Given the description of an element on the screen output the (x, y) to click on. 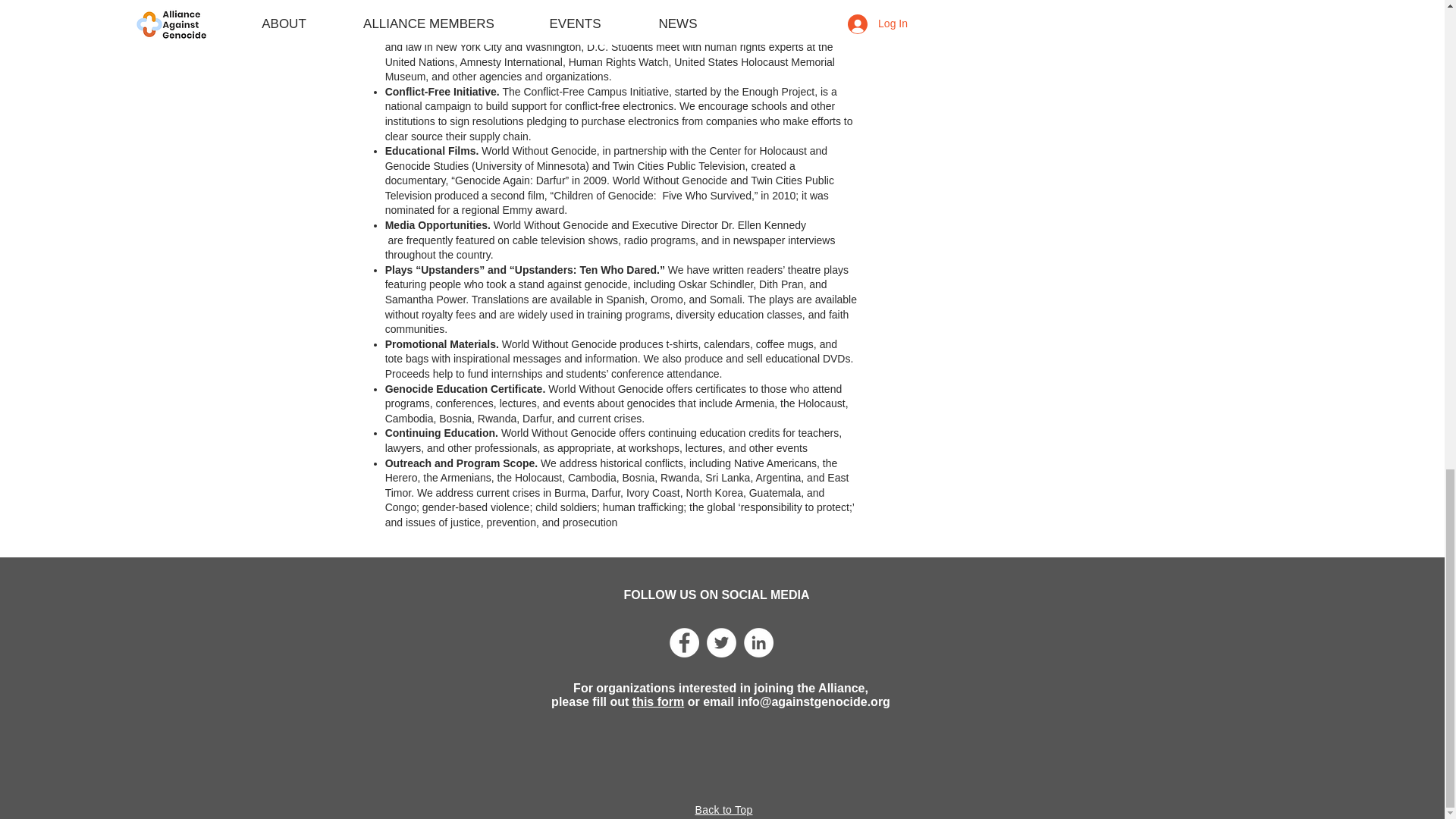
Back to Top (723, 809)
this form (657, 701)
